Given the description of an element on the screen output the (x, y) to click on. 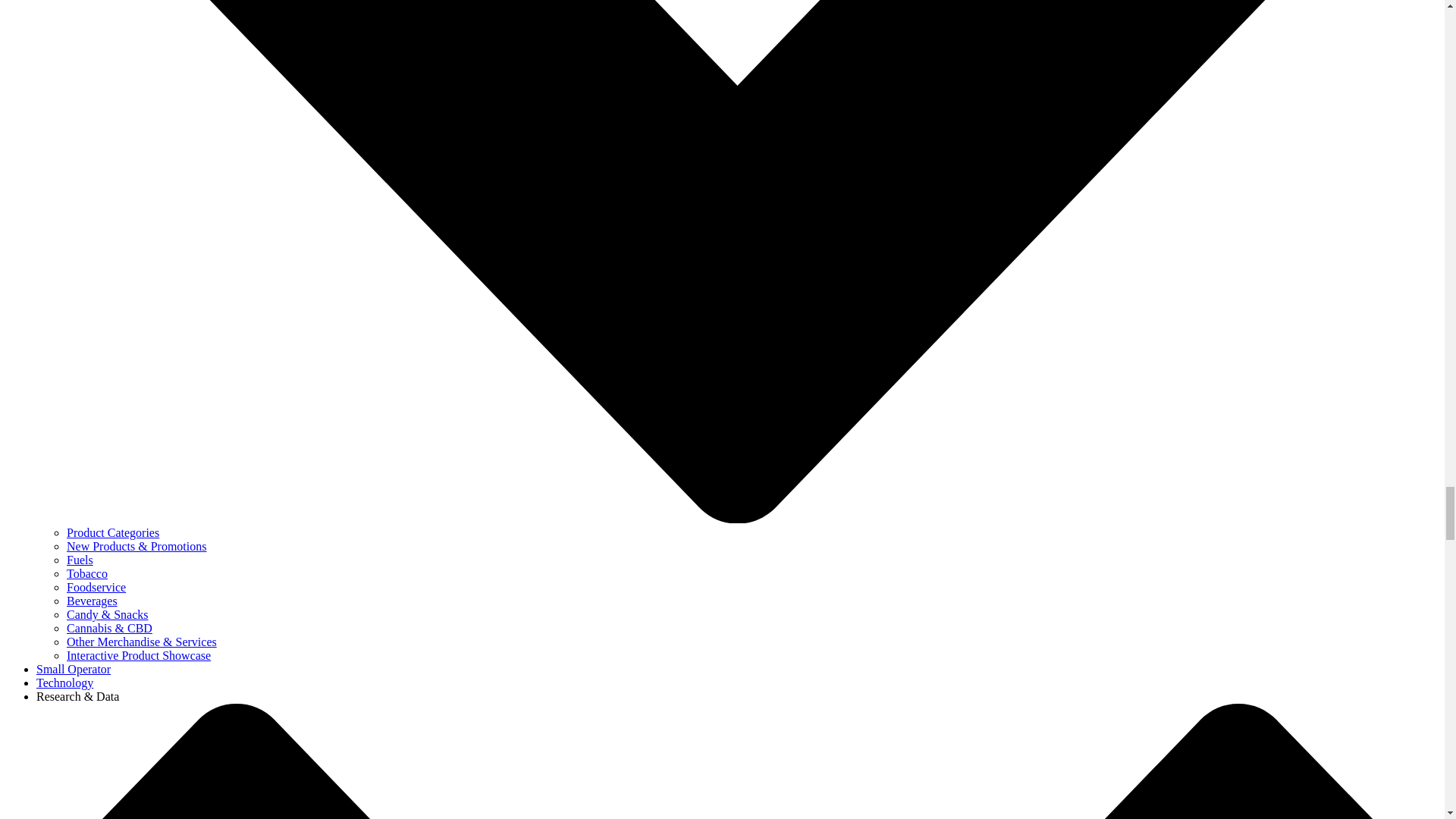
Foodservice (95, 586)
Small Operator (73, 668)
Technology (64, 682)
Tobacco (86, 573)
Interactive Product Showcase (138, 655)
Fuels (79, 559)
Product Categories (112, 532)
Beverages (91, 600)
